Given the description of an element on the screen output the (x, y) to click on. 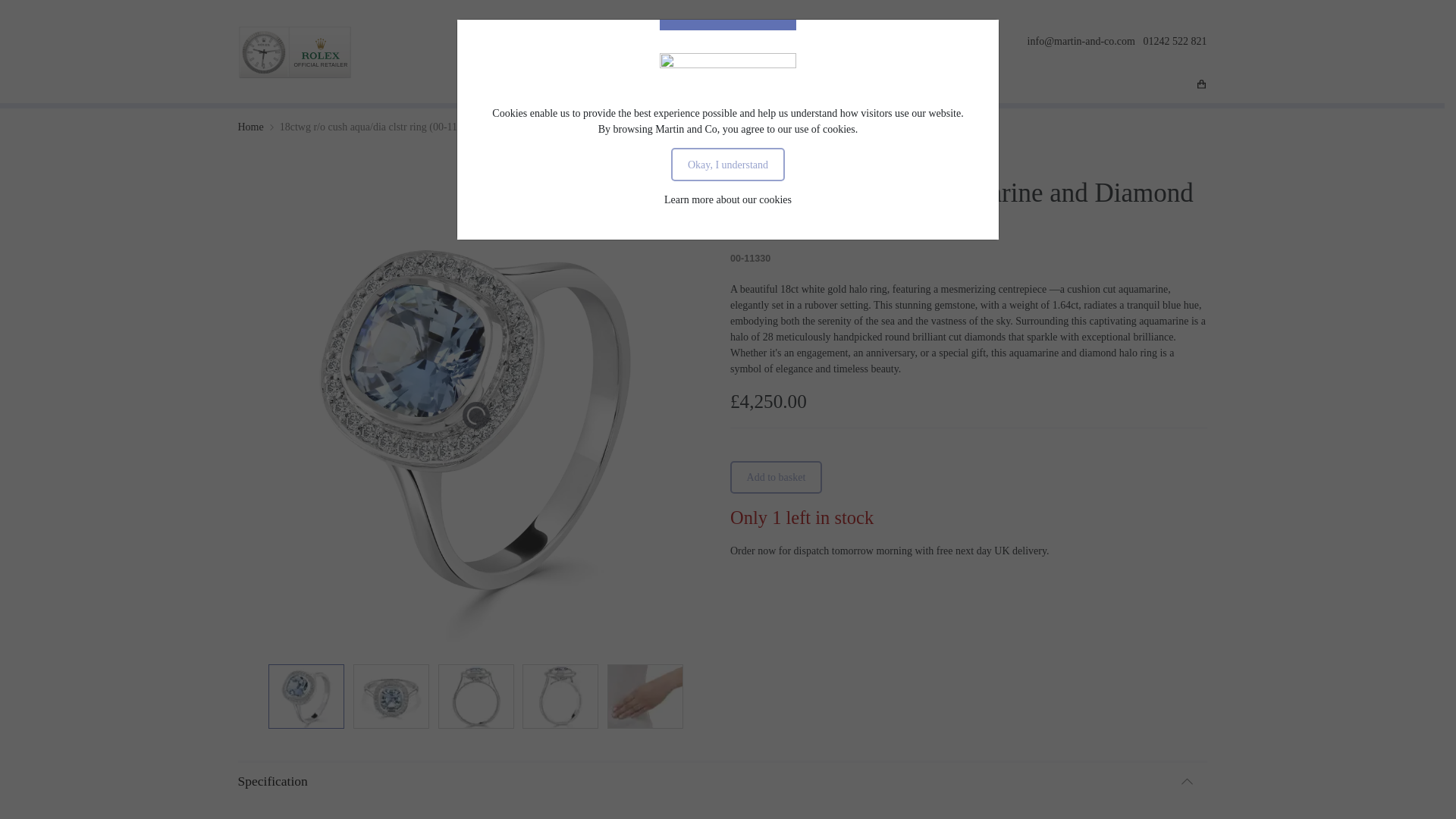
TUDOR (620, 87)
Rolex Clock (295, 51)
JEWELLERY (760, 87)
ROLEX (563, 87)
01242 522 821 (1174, 41)
WATCHES (684, 87)
